Given the description of an element on the screen output the (x, y) to click on. 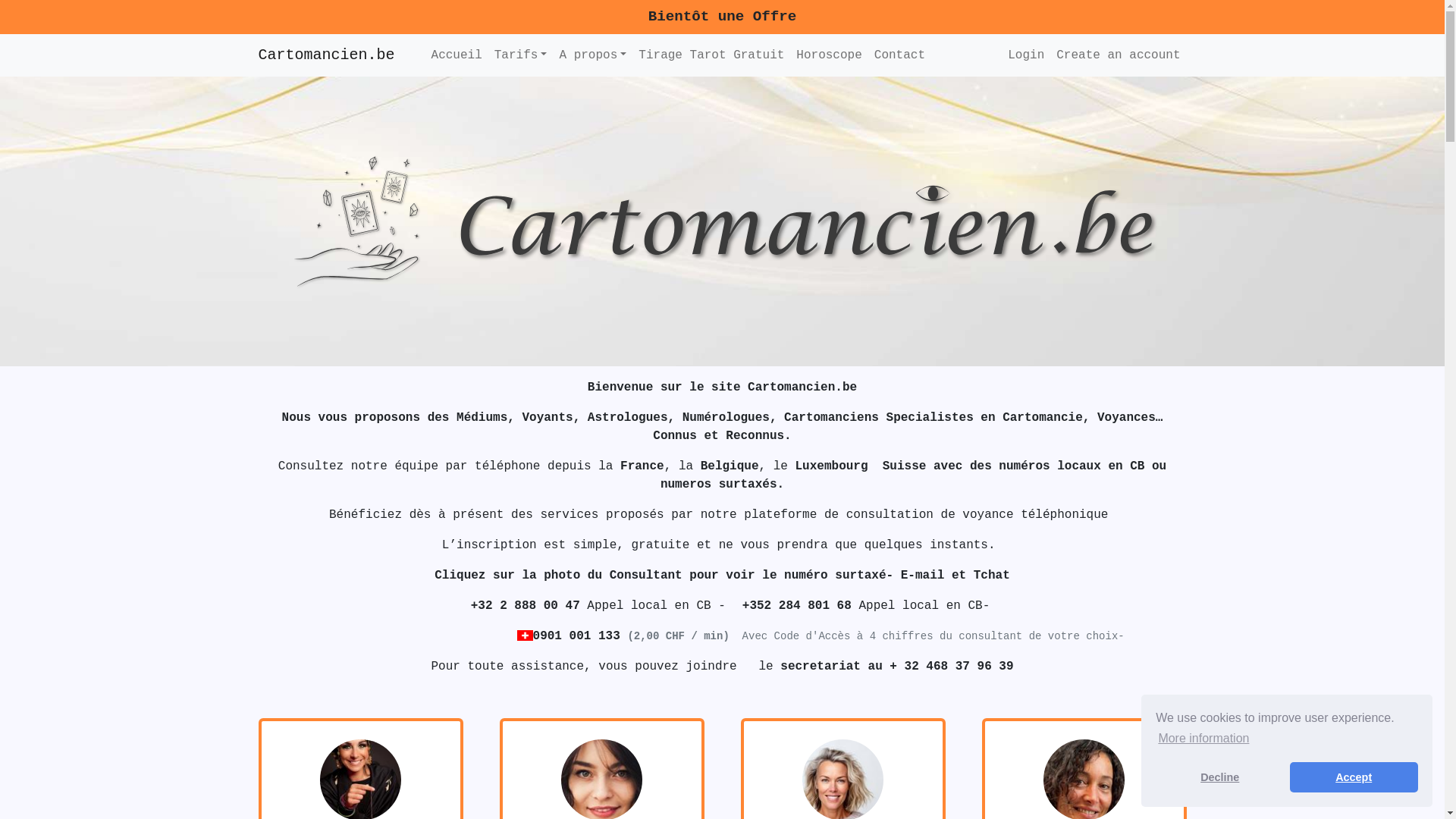
Cartomancien.be Element type: text (325, 55)
Accept Element type: text (1353, 777)
Tirage Tarot Gratuit Element type: text (711, 55)
More information Element type: text (1203, 738)
Horoscope Element type: text (828, 55)
Decline Element type: text (1219, 777)
Accueil Element type: text (456, 55)
Create an account Element type: text (1118, 55)
Tarifs Element type: text (520, 55)
Login Element type: text (1025, 55)
A propos Element type: text (592, 55)
Contact Element type: text (899, 55)
